Given the description of an element on the screen output the (x, y) to click on. 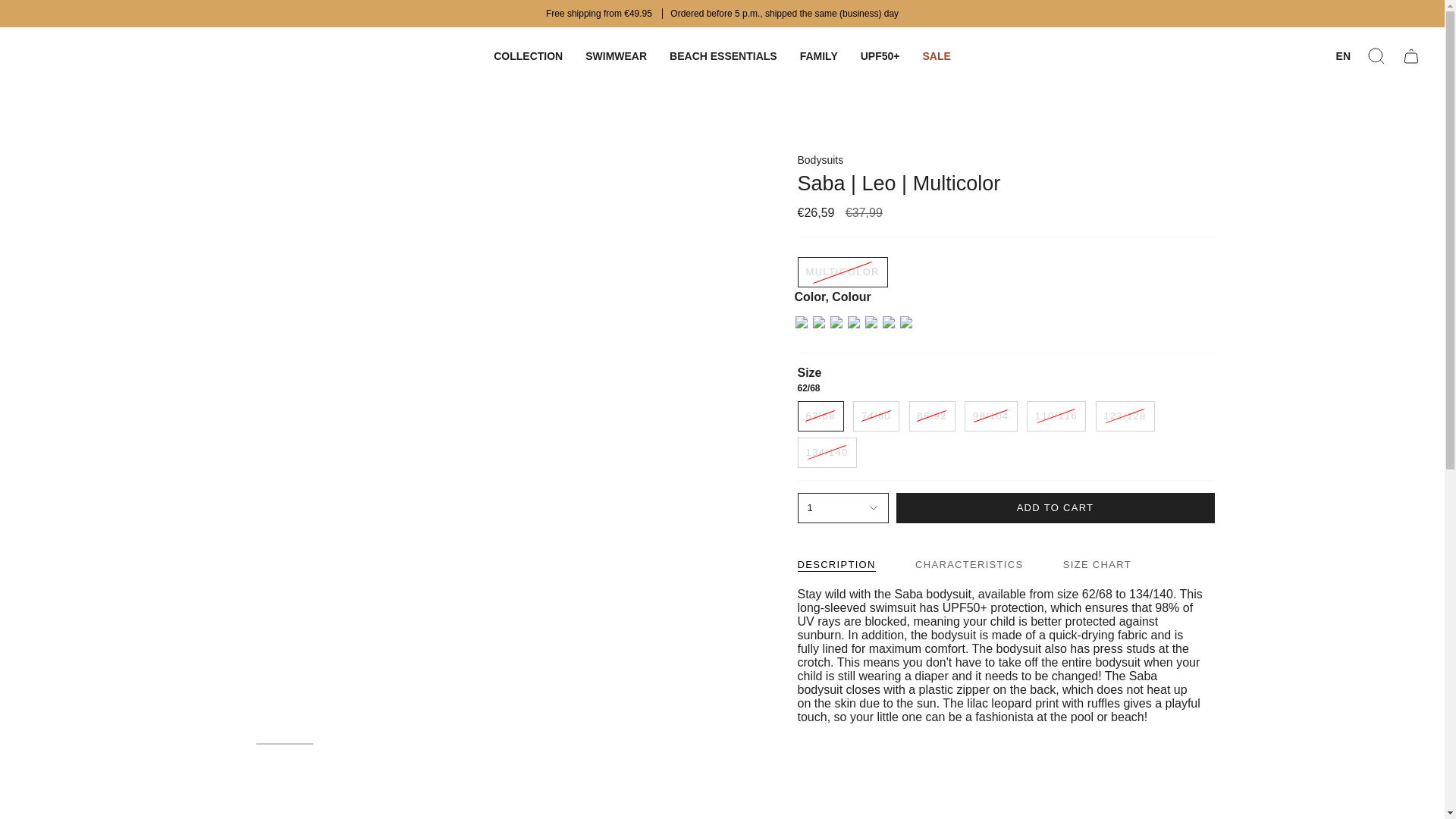
Search (1375, 56)
SWIMWEAR (615, 56)
Cart (1410, 56)
COLLECTION (527, 56)
FAMILY (818, 56)
BEACH ESSENTIALS (723, 56)
